Given the description of an element on the screen output the (x, y) to click on. 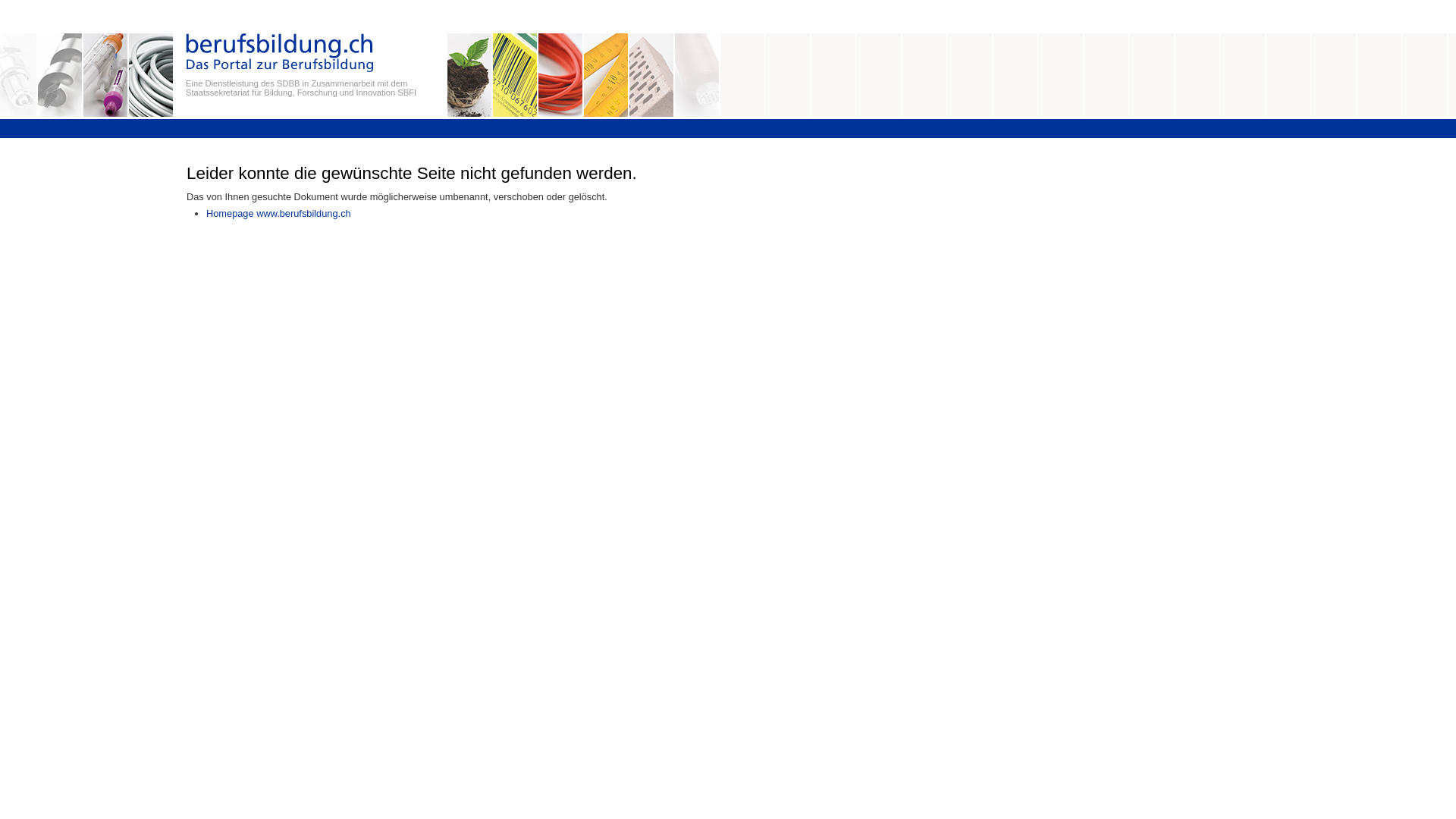
Homepage www.berufsbildung.ch Element type: text (278, 213)
